Given the description of an element on the screen output the (x, y) to click on. 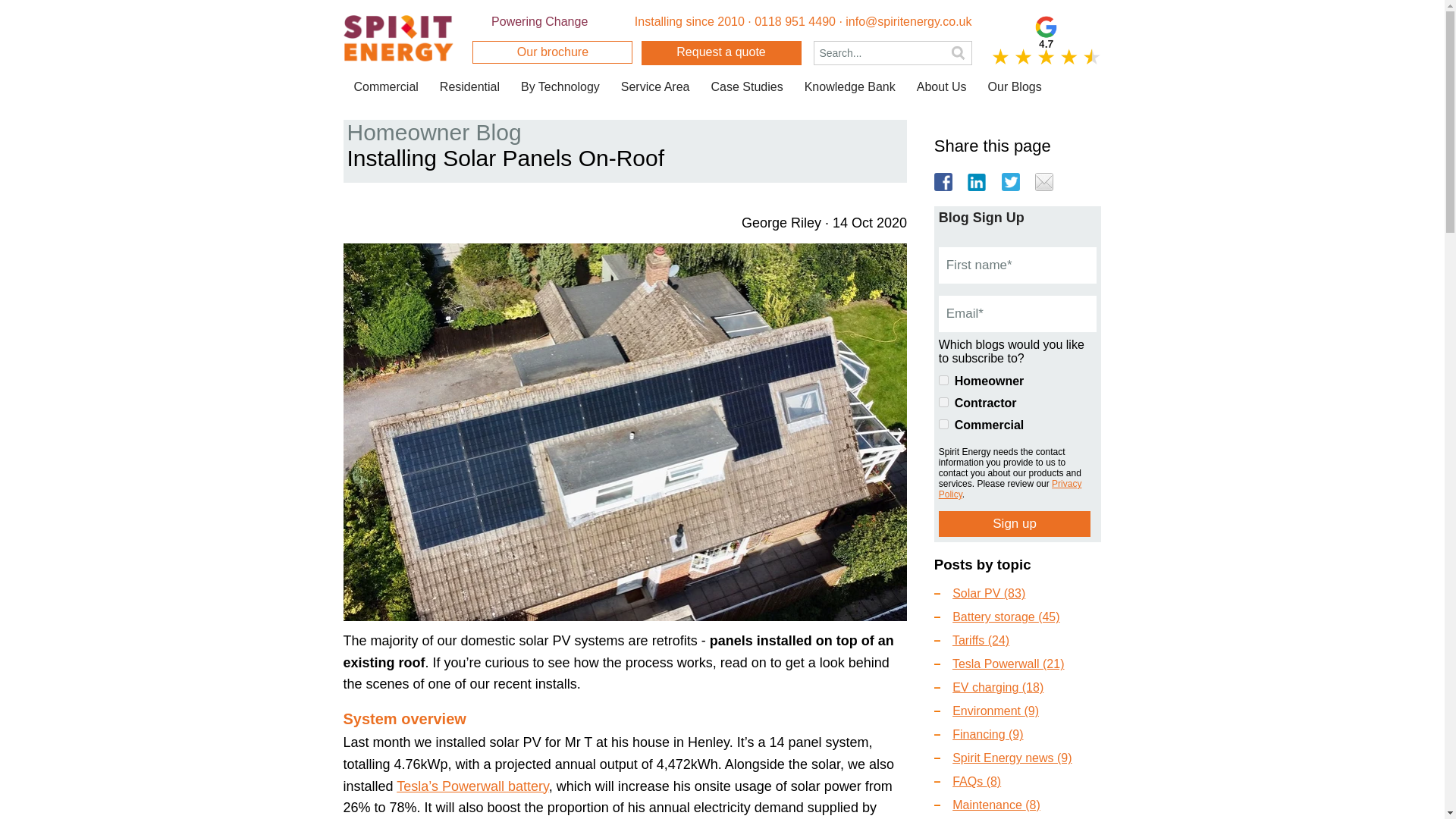
Service Area (655, 87)
By Technology (560, 87)
Commercial (944, 424)
Spirit Energy header logo (397, 38)
Homeowner (944, 379)
Residential (470, 87)
Our brochure (551, 51)
Commercial (385, 87)
Google Header Graphic (1045, 40)
Request a quote (722, 52)
